Given the description of an element on the screen output the (x, y) to click on. 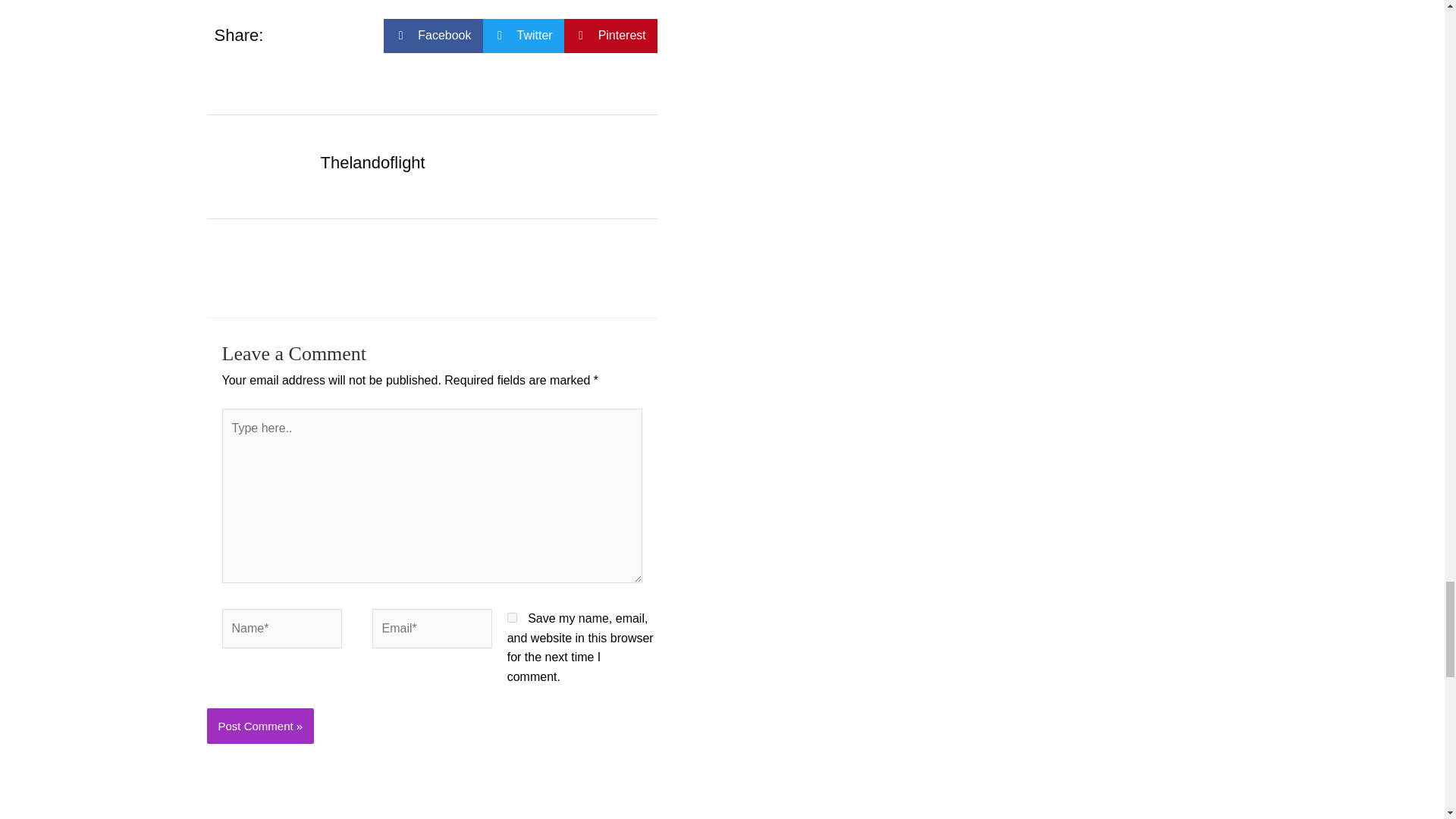
yes (511, 617)
